Given the description of an element on the screen output the (x, y) to click on. 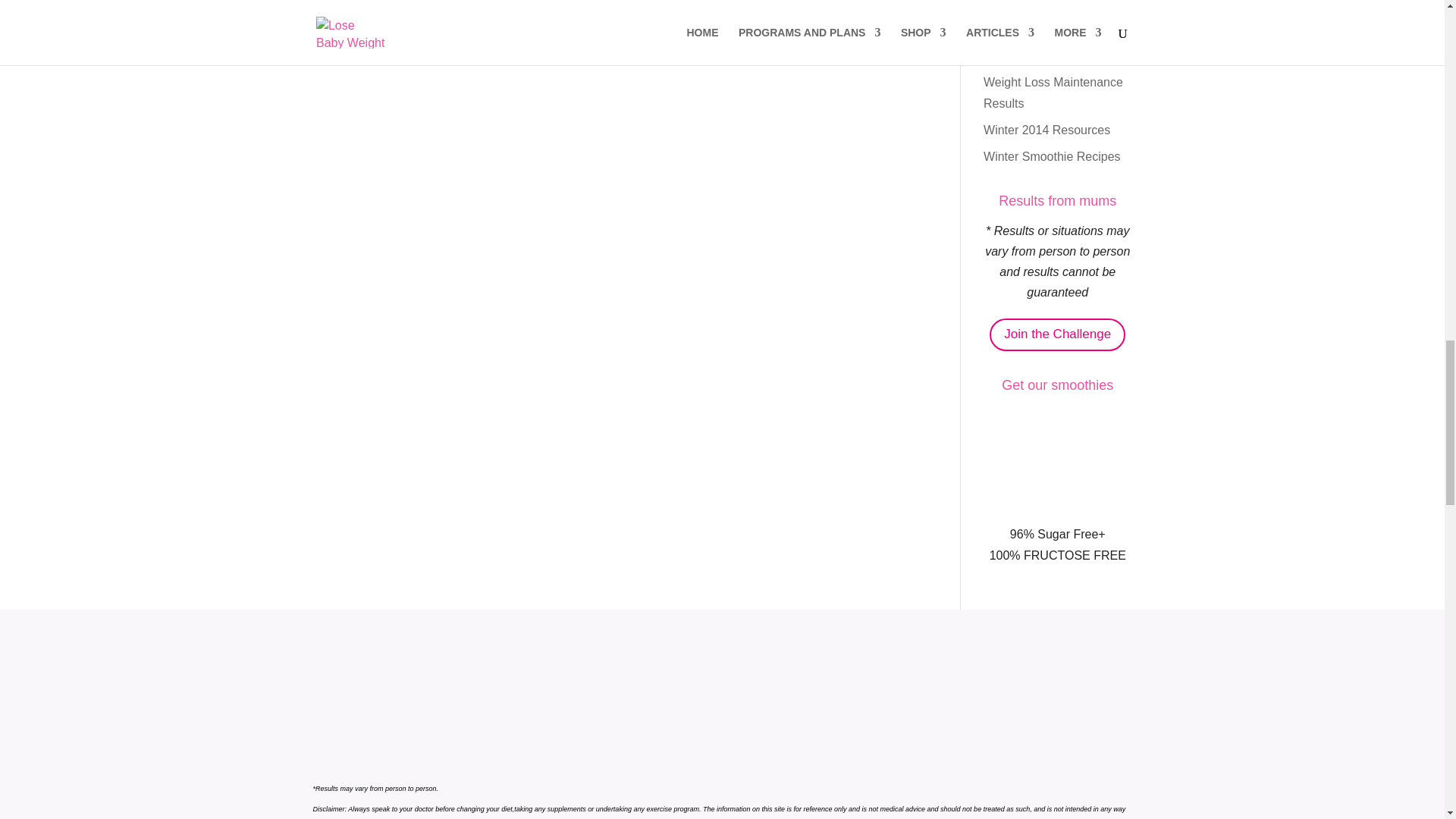
advertisement (1057, 460)
